Given the description of an element on the screen output the (x, y) to click on. 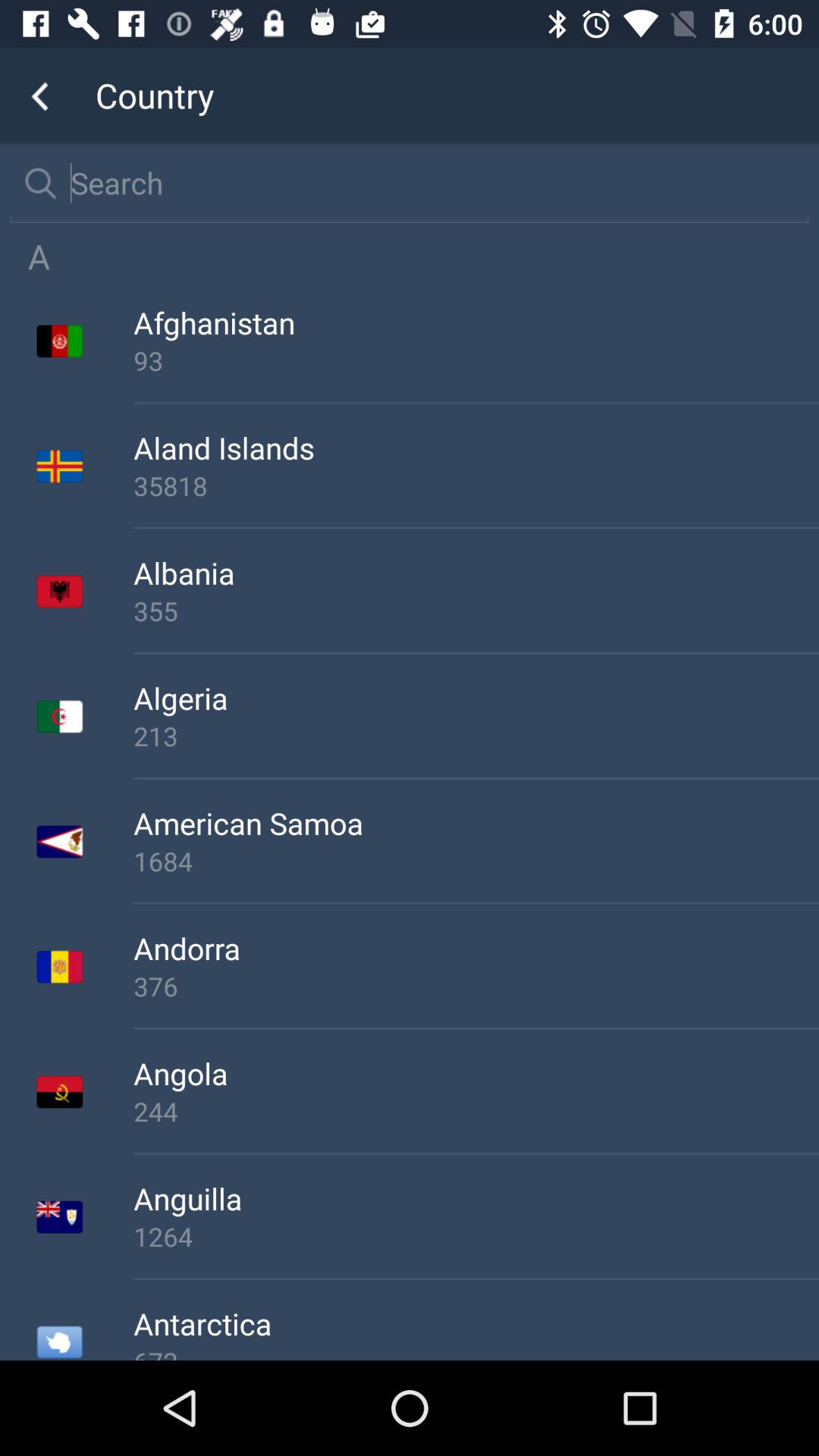
choose the algeria app (476, 697)
